Given the description of an element on the screen output the (x, y) to click on. 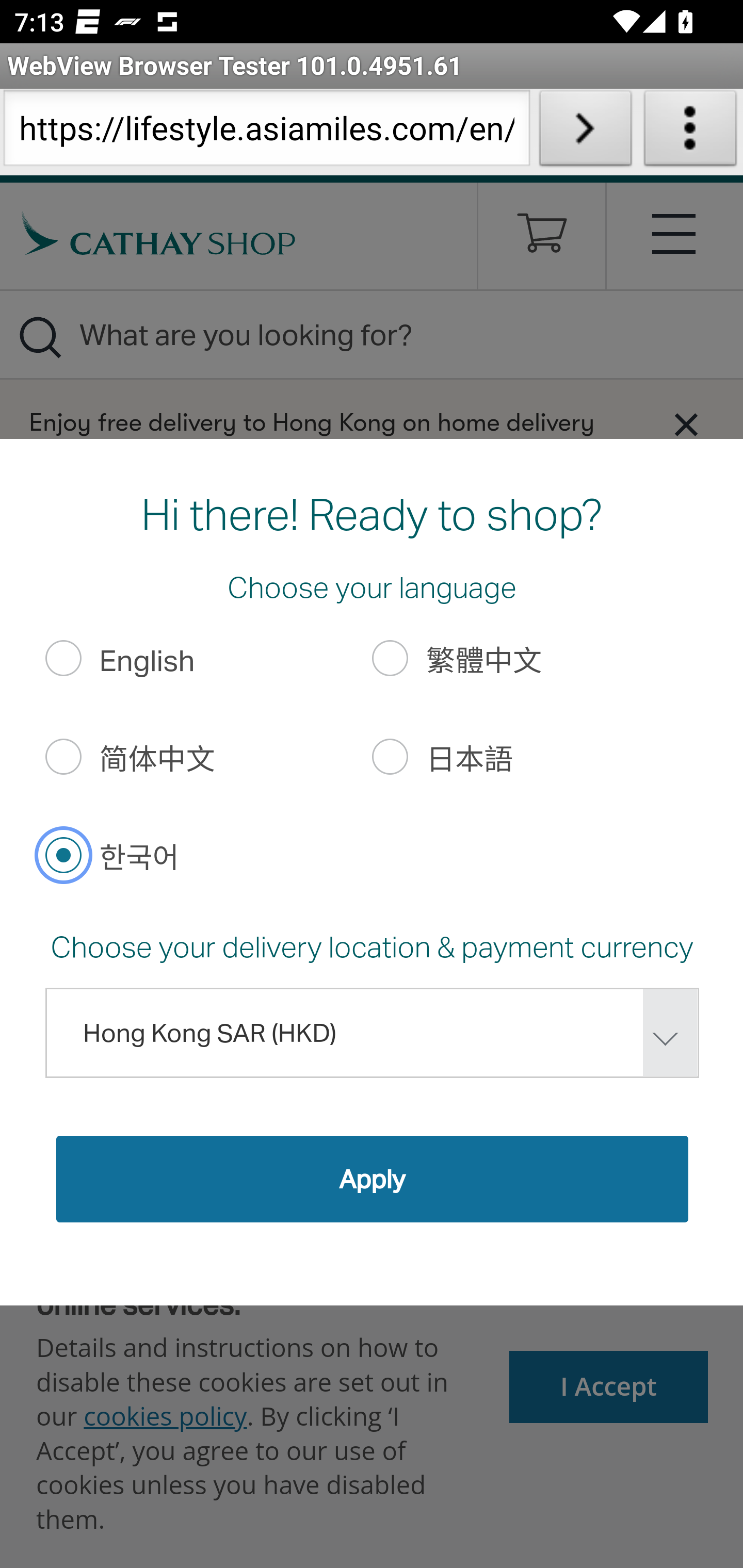
Load URL (585, 132)
About WebView (690, 132)
Mini cart (542, 240)
Menu (675, 232)
en Cathay-Shop-English-Horizontal-Black-03 (158, 232)
What are you looking for? (371, 334)
English (63, 658)
繁體中文 (390, 658)
简体中文 (63, 756)
日本語 (390, 756)
한국어 (63, 854)
Hong Kong SAR (HKD) (371, 1032)
apply (371, 1178)
I Accept (608, 1386)
cookies policy (165, 1415)
